Given the description of an element on the screen output the (x, y) to click on. 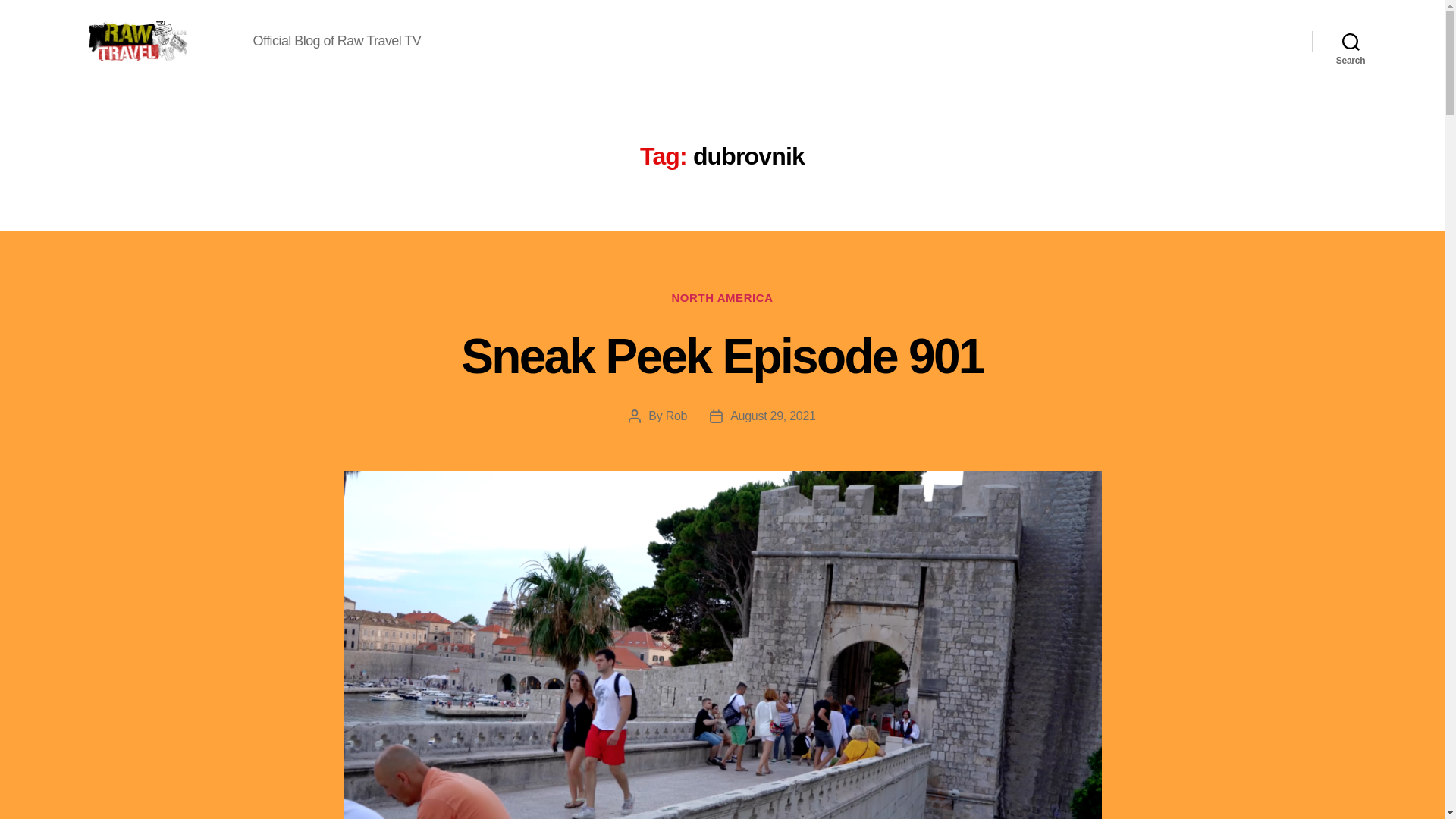
Rob (676, 415)
August 29, 2021 (772, 415)
NORTH AMERICA (722, 298)
Sneak Peek Episode 901 (722, 356)
Search (1350, 40)
